Given the description of an element on the screen output the (x, y) to click on. 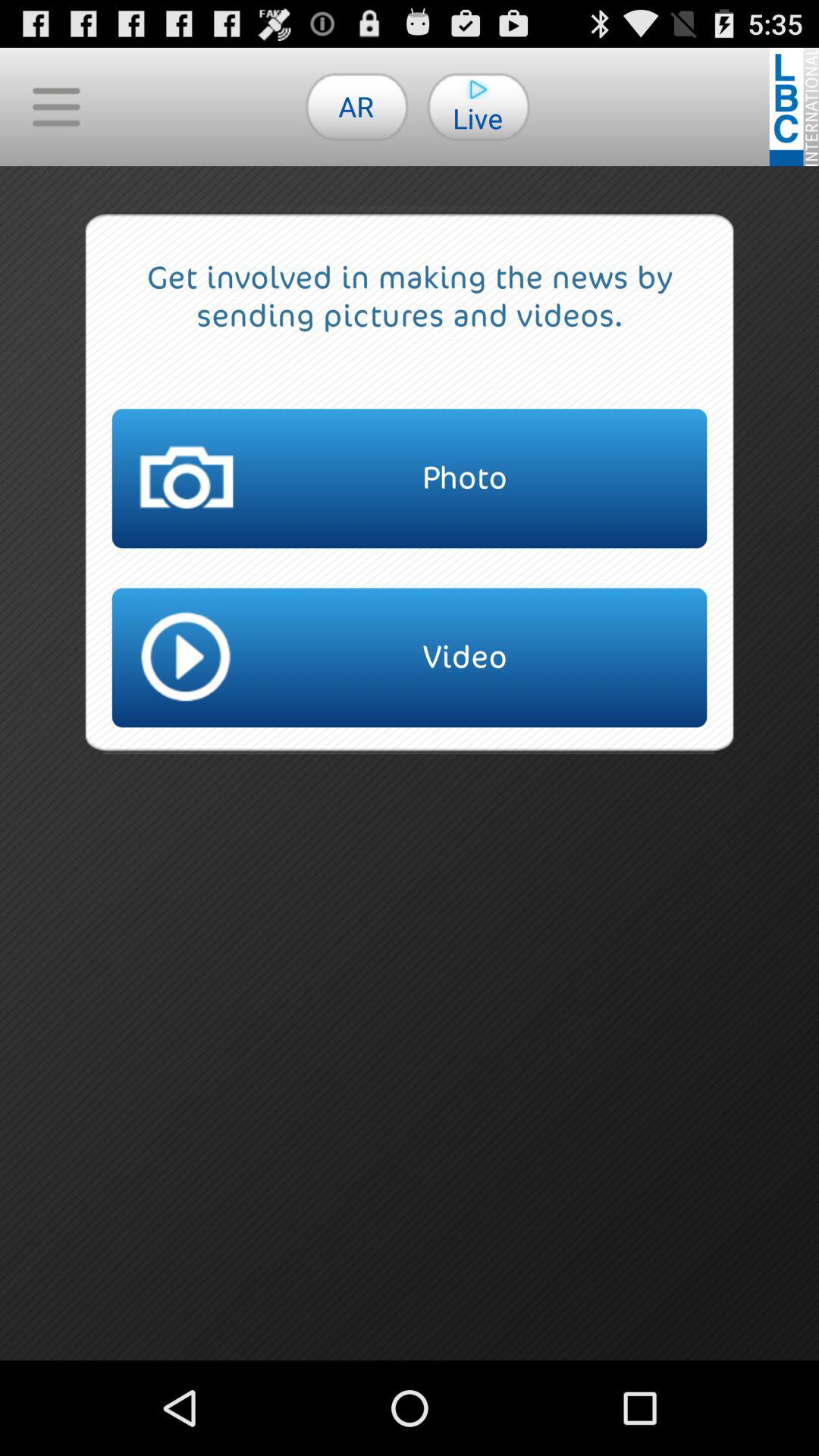
turn off the icon below get involved in item (409, 478)
